Given the description of an element on the screen output the (x, y) to click on. 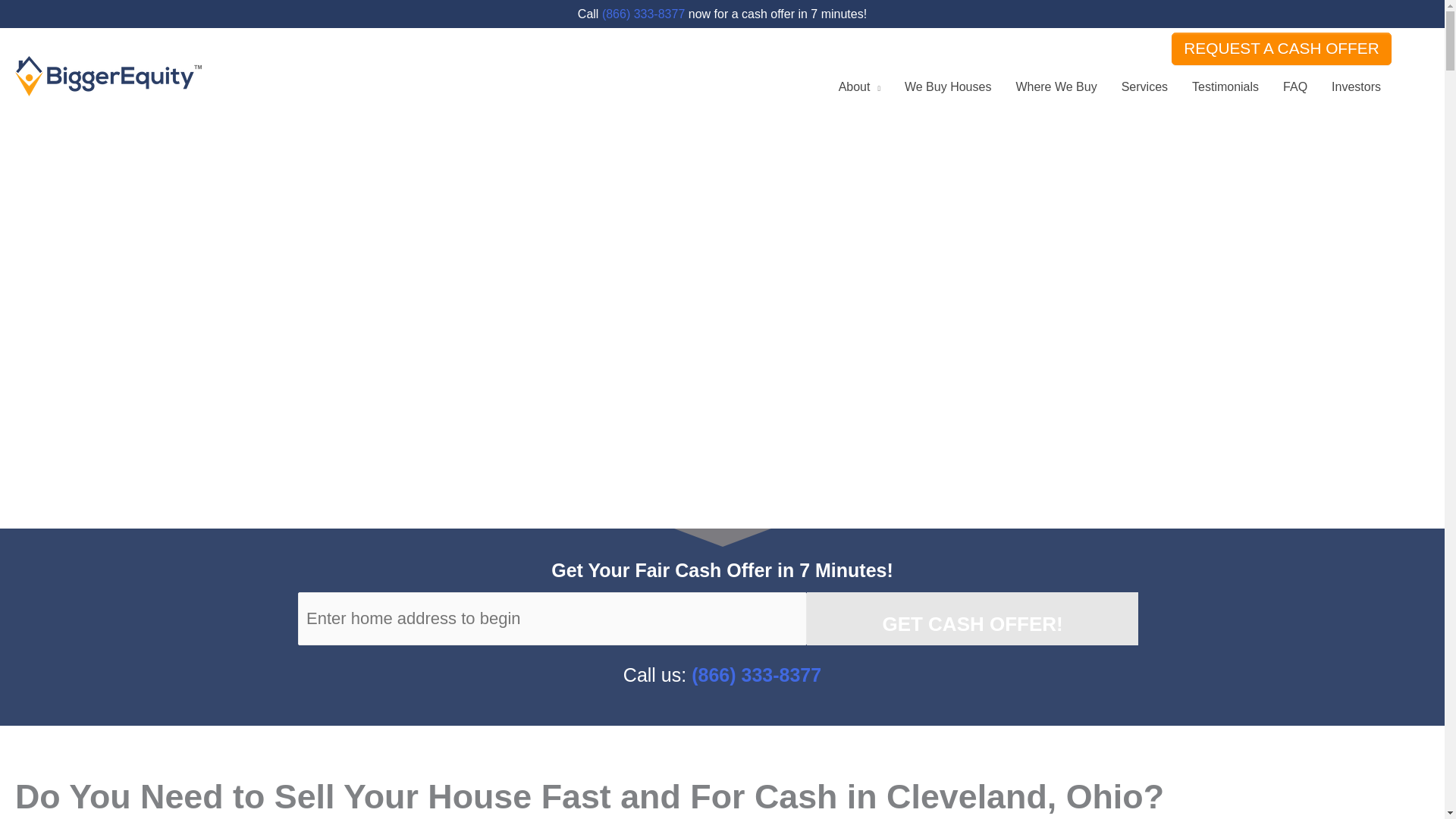
Testimonials (1225, 87)
Services (1144, 87)
We Buy Houses (947, 87)
REQUEST A CASH OFFER (1281, 48)
About (859, 87)
GET CASH OFFER! (971, 618)
FAQ (1295, 87)
Investors (1356, 87)
GET CASH OFFER! (971, 618)
Where We Buy (1055, 87)
